Given the description of an element on the screen output the (x, y) to click on. 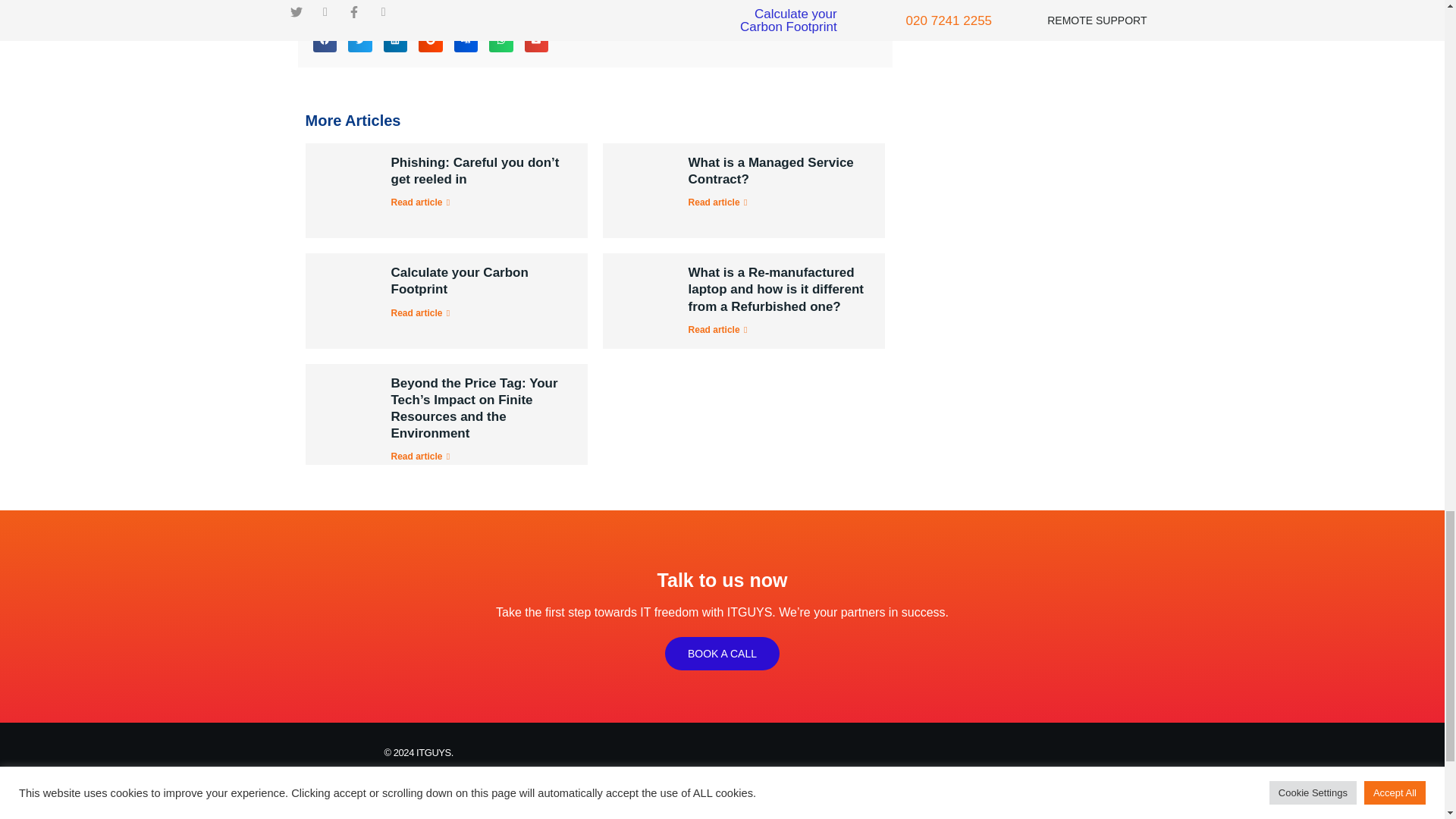
Read article (422, 202)
What is a Managed Service Contract? (770, 170)
Read article (719, 202)
